Given the description of an element on the screen output the (x, y) to click on. 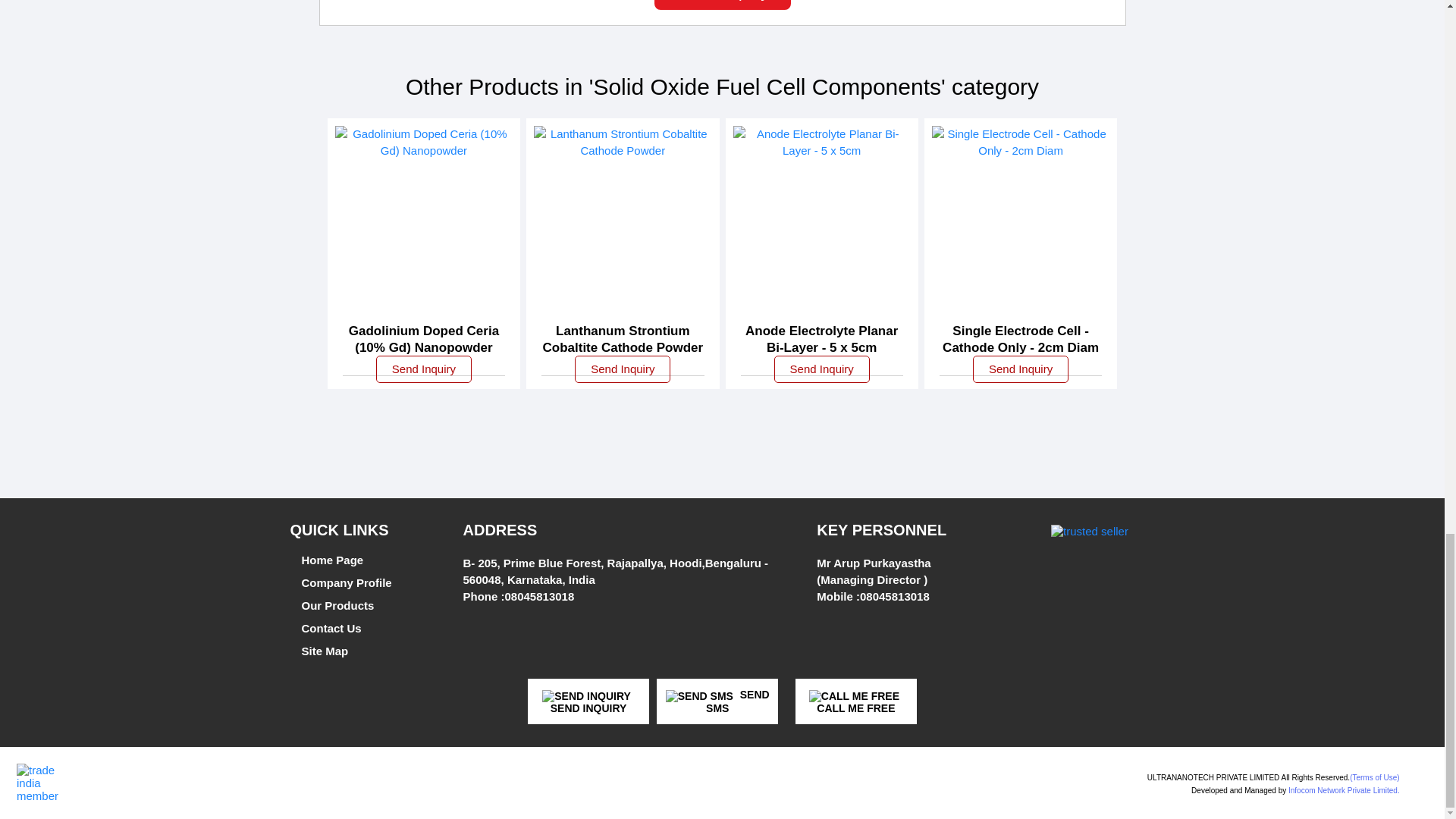
Send Inquiry (721, 4)
Send SMS (699, 695)
Send Inquiry (585, 695)
Call Me Free (854, 695)
